Given the description of an element on the screen output the (x, y) to click on. 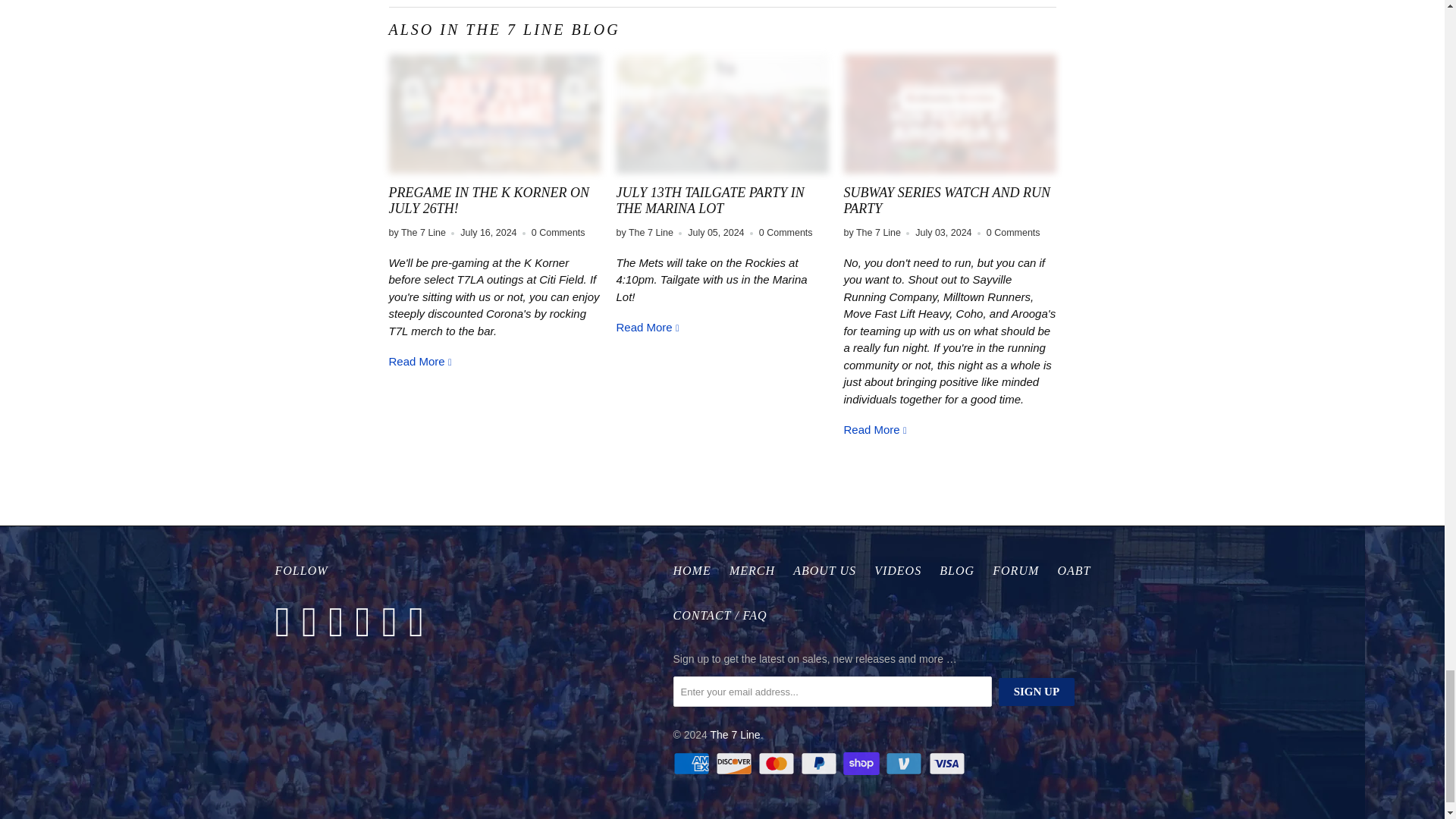
Pregame in the K Korner on July 26th! (488, 201)
Subway Series Watch and Run Party (875, 429)
Subway Series Watch and Run Party (949, 113)
Pregame in the K Korner on July 26th! (420, 360)
Pregame in the K Korner on July 26th! (493, 113)
Sign Up (1036, 691)
Subway Series Watch and Run Party (946, 201)
July 13th Tailgate Party In The Marina Lot (721, 113)
July 13th Tailgate Party In The Marina Lot (709, 201)
July 13th Tailgate Party In The Marina Lot (647, 327)
